Given the description of an element on the screen output the (x, y) to click on. 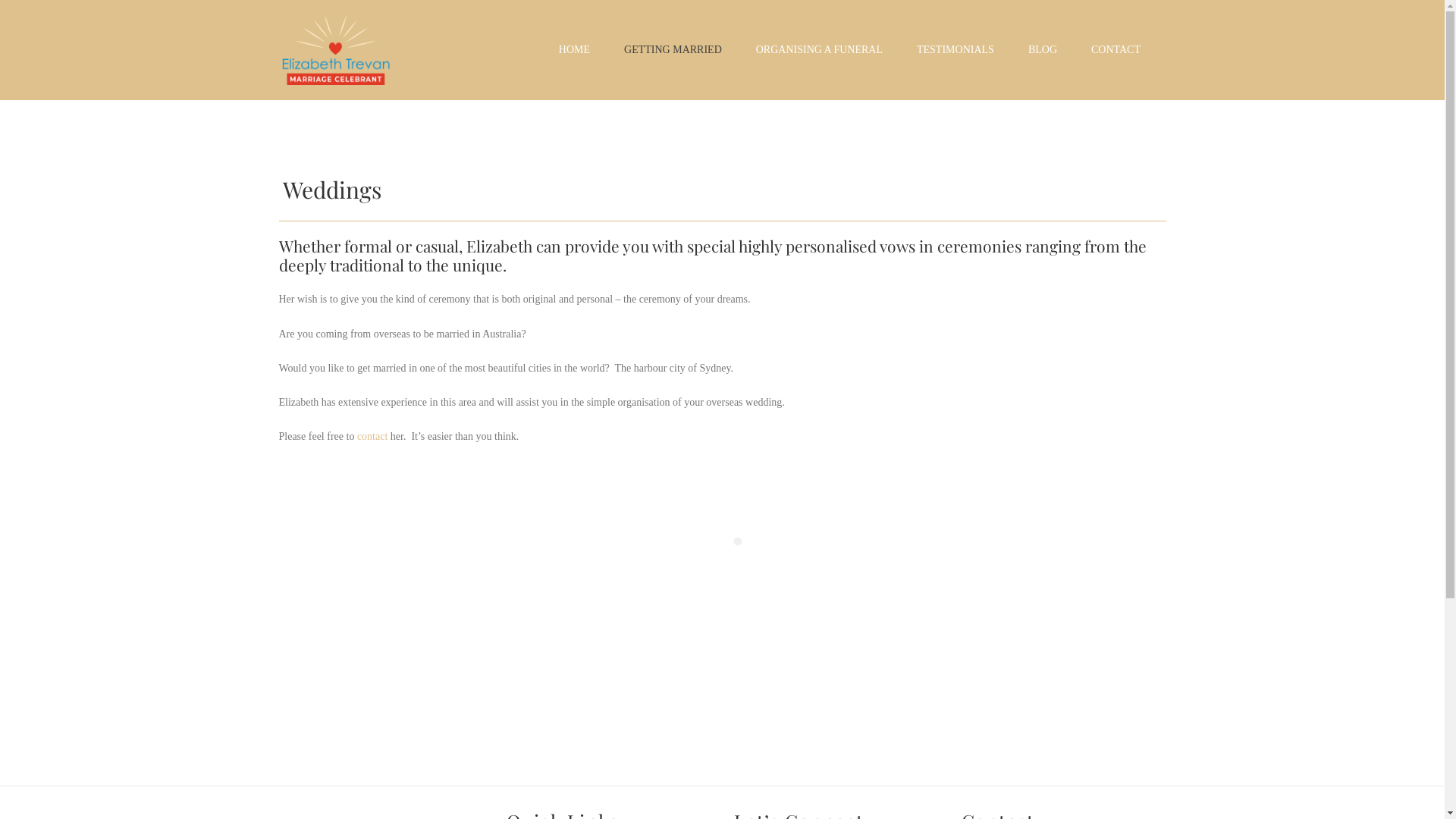
ORGANISING A FUNERAL Element type: text (819, 50)
BLOG Element type: text (1042, 50)
CONTACT Element type: text (1115, 50)
contact Element type: text (372, 436)
GETTING MARRIED Element type: text (672, 50)
TESTIMONIALS Element type: text (955, 50)
HOME Element type: text (573, 50)
